Given the description of an element on the screen output the (x, y) to click on. 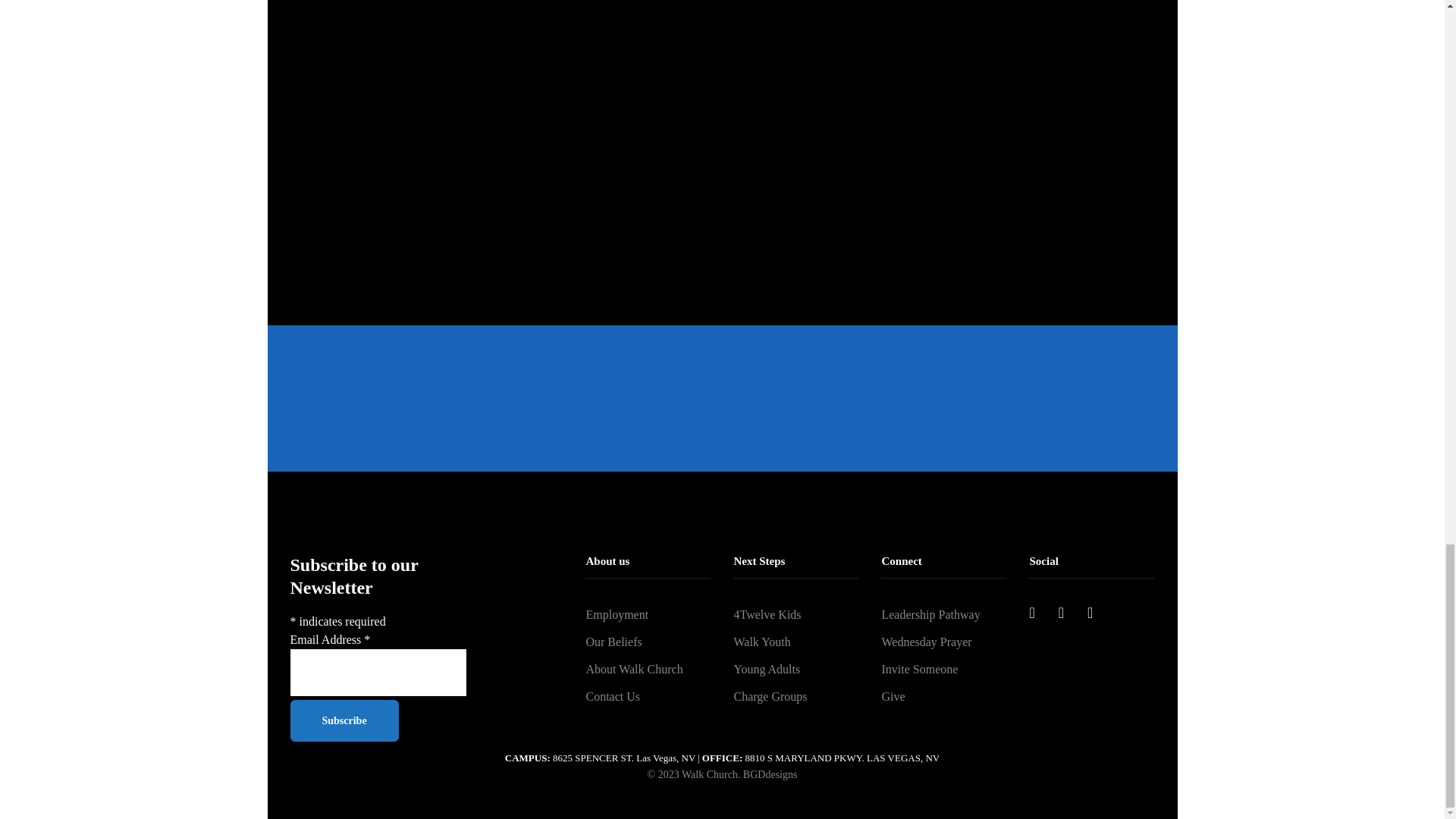
Our Beliefs (647, 642)
Subscribe (343, 721)
Subscribe (343, 721)
Employment (647, 614)
What is RightNow Media Kids? (949, 121)
About Walk Church (647, 669)
